Given the description of an element on the screen output the (x, y) to click on. 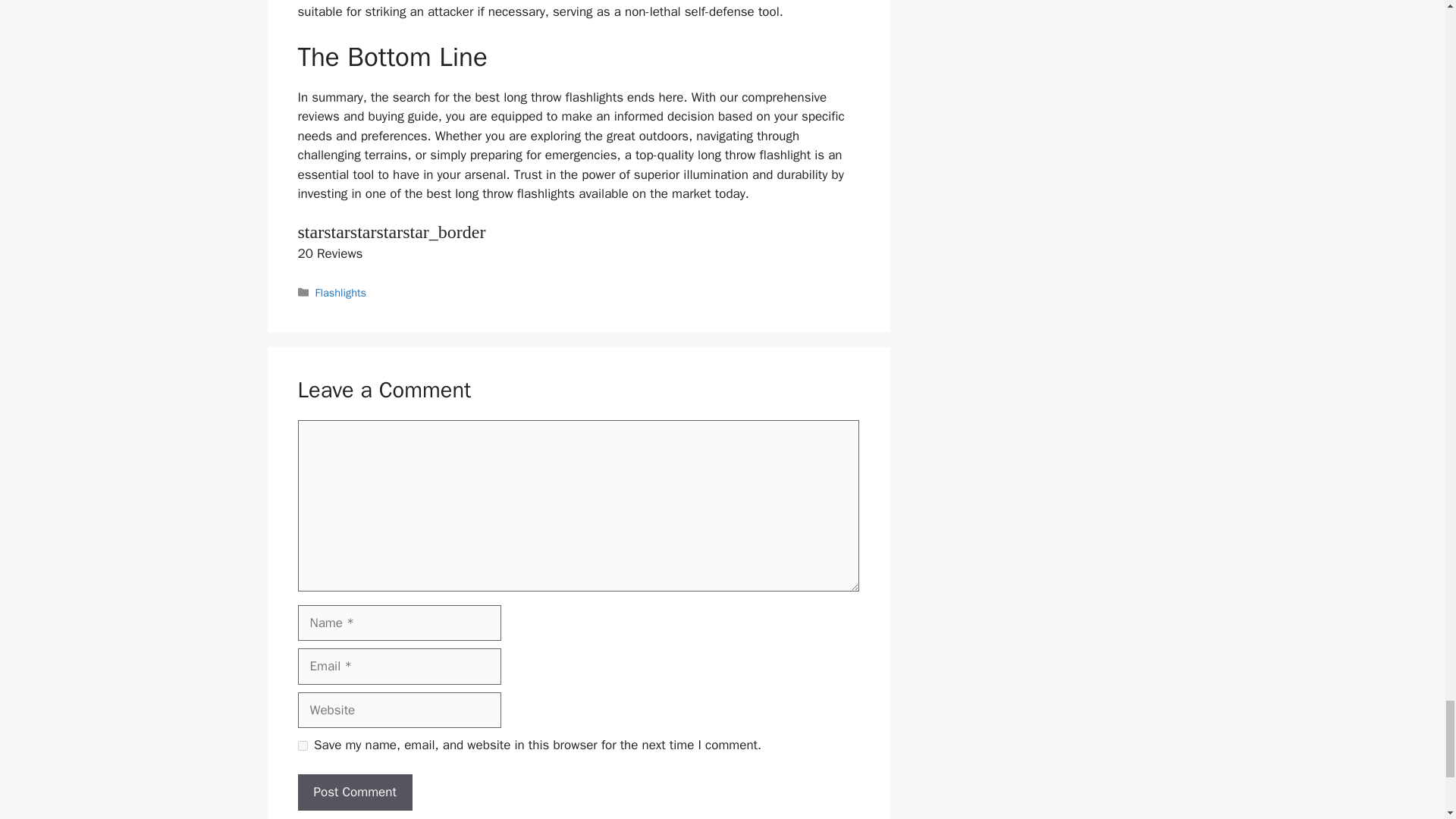
Post Comment (354, 791)
Post Comment (354, 791)
Flashlights (340, 292)
yes (302, 746)
